Given the description of an element on the screen output the (x, y) to click on. 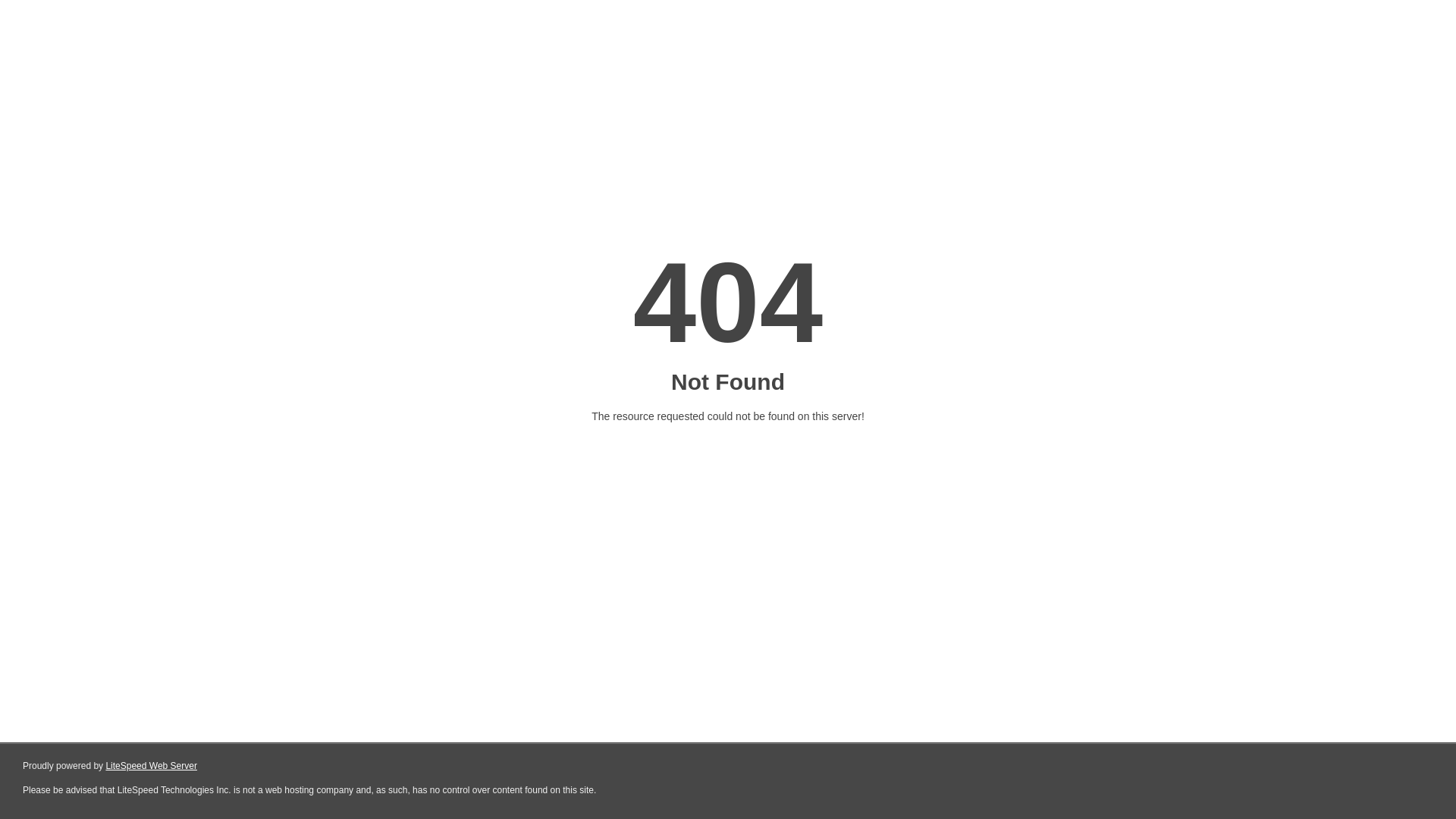
LiteSpeed Web Server (150, 765)
